Given the description of an element on the screen output the (x, y) to click on. 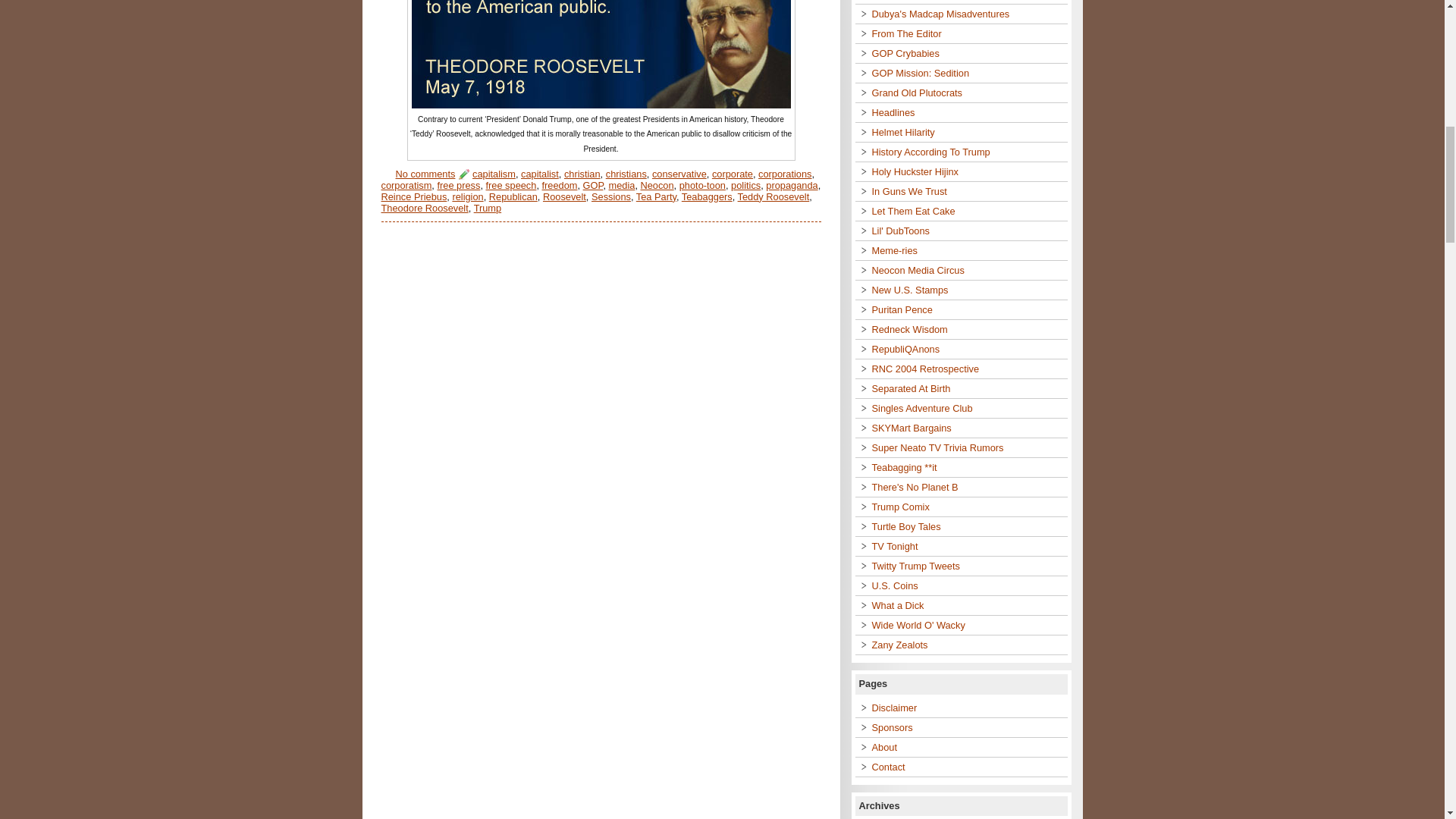
freedom (559, 184)
Neocon (656, 184)
corporations (784, 173)
photo-toon (702, 184)
corporatism (405, 184)
GOP (593, 184)
No comments (425, 173)
christian (581, 173)
media (621, 184)
christians (625, 173)
free speech (511, 184)
free press (458, 184)
corporate (731, 173)
capitalist (540, 173)
conservative (679, 173)
